Given the description of an element on the screen output the (x, y) to click on. 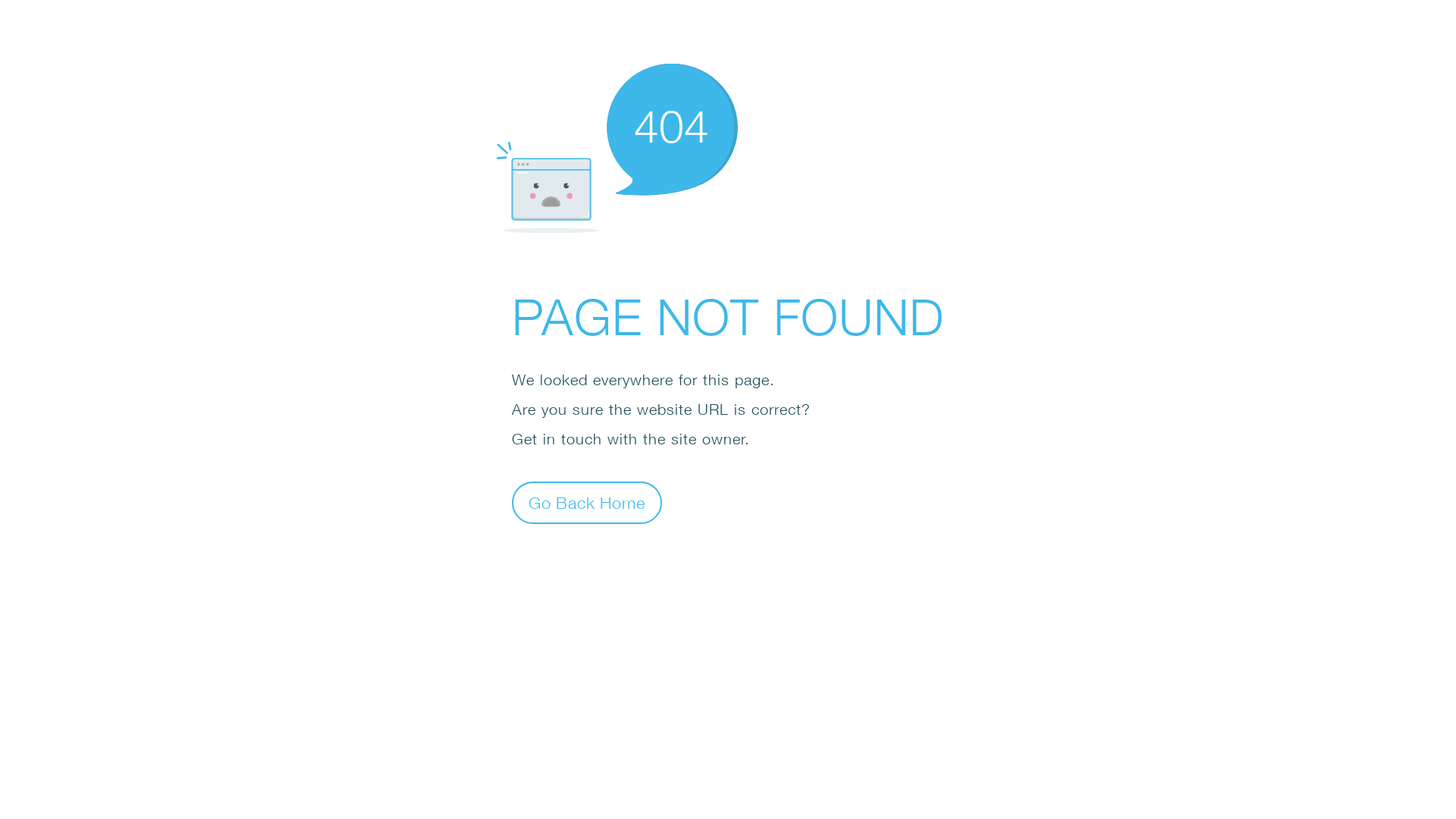
Go Back Home Element type: text (586, 502)
